Given the description of an element on the screen output the (x, y) to click on. 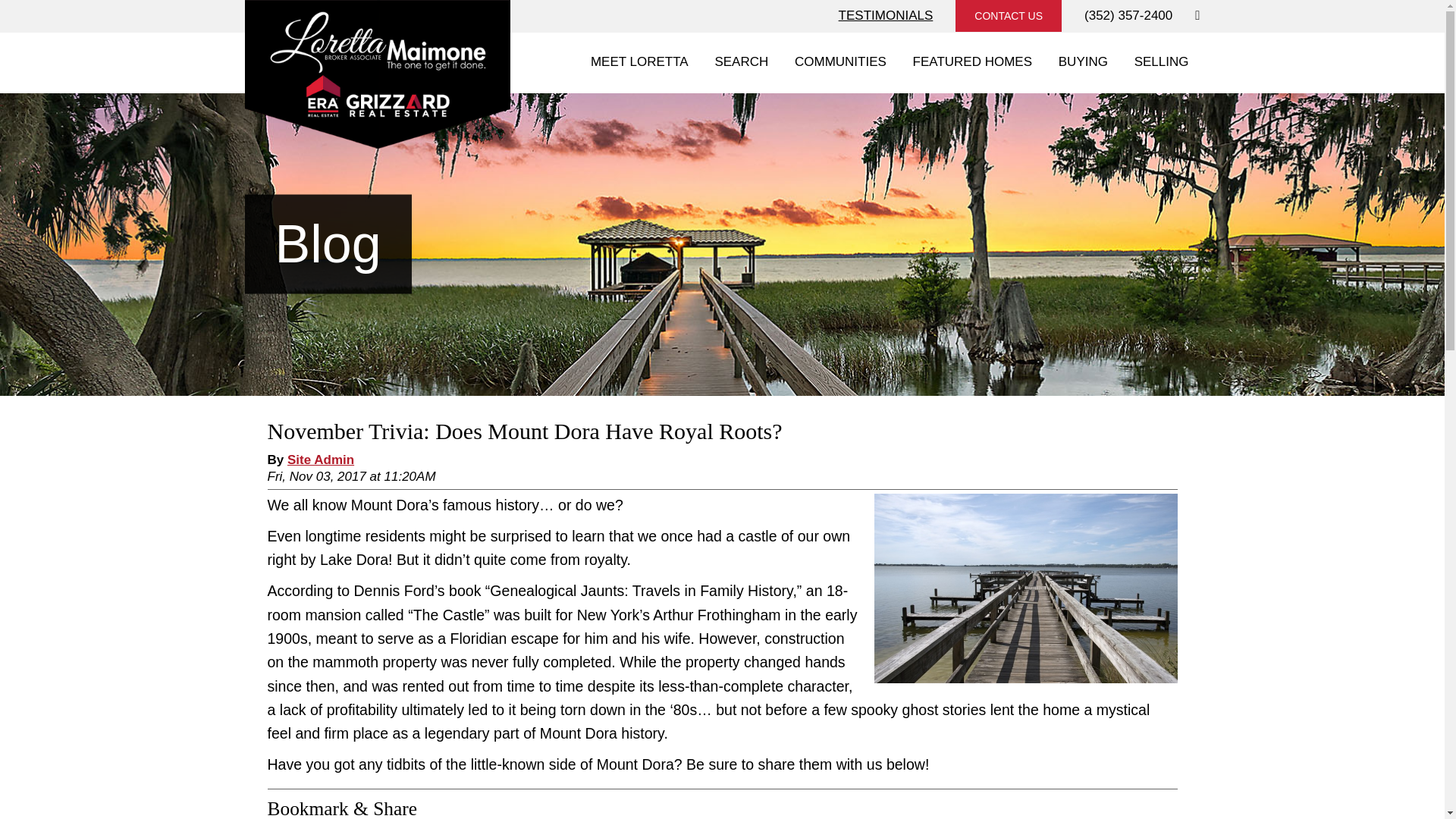
COMMUNITIES (840, 61)
SEARCH (740, 61)
Site Admin (319, 459)
BUYING (1082, 61)
TESTIMONIALS (885, 15)
CONTACT US (1008, 15)
MEET LORETTA (639, 61)
FEATURED HOMES (972, 61)
SELLING (1160, 61)
